Given the description of an element on the screen output the (x, y) to click on. 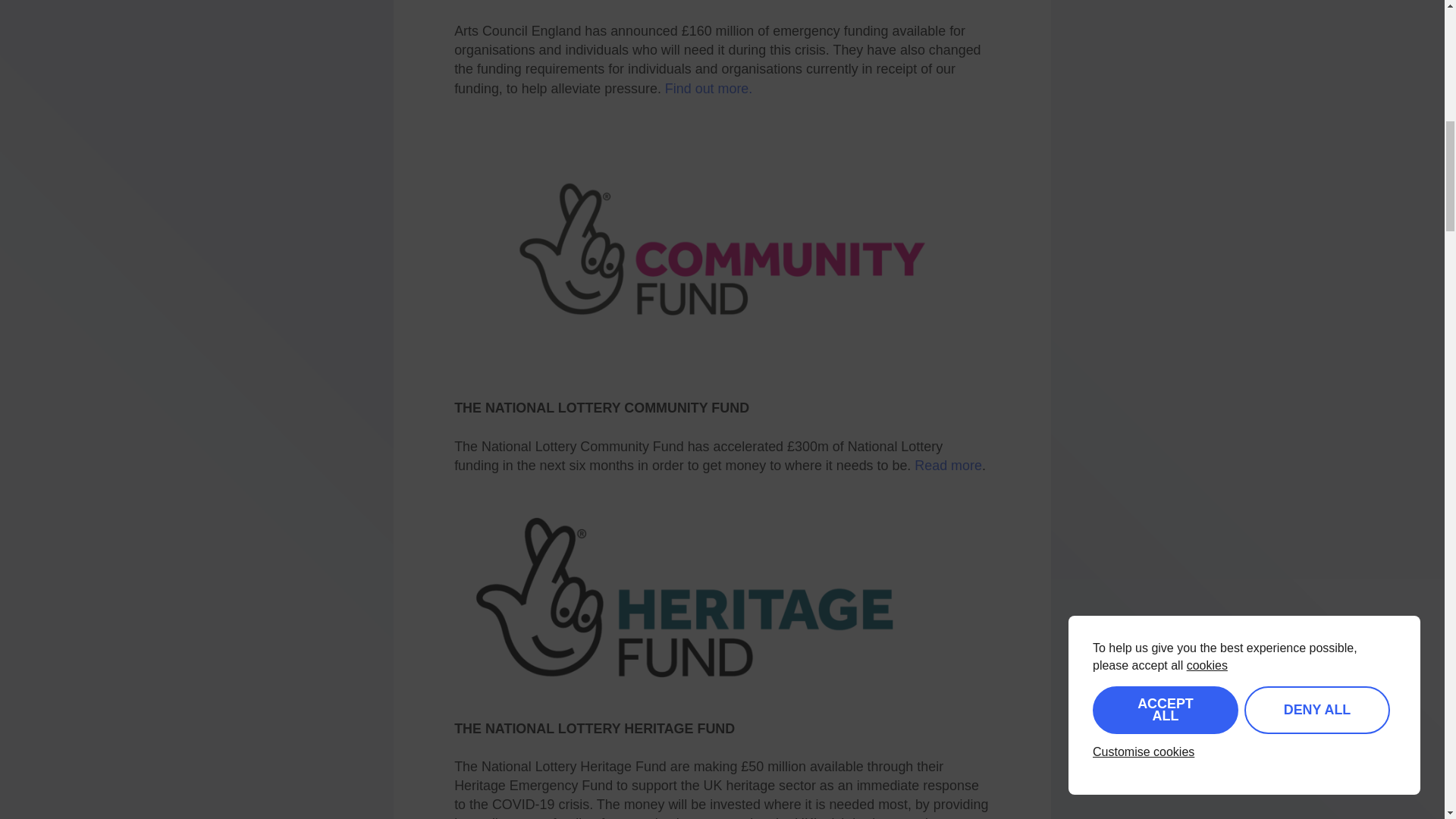
Find out more. (708, 88)
Read more (947, 465)
